Given the description of an element on the screen output the (x, y) to click on. 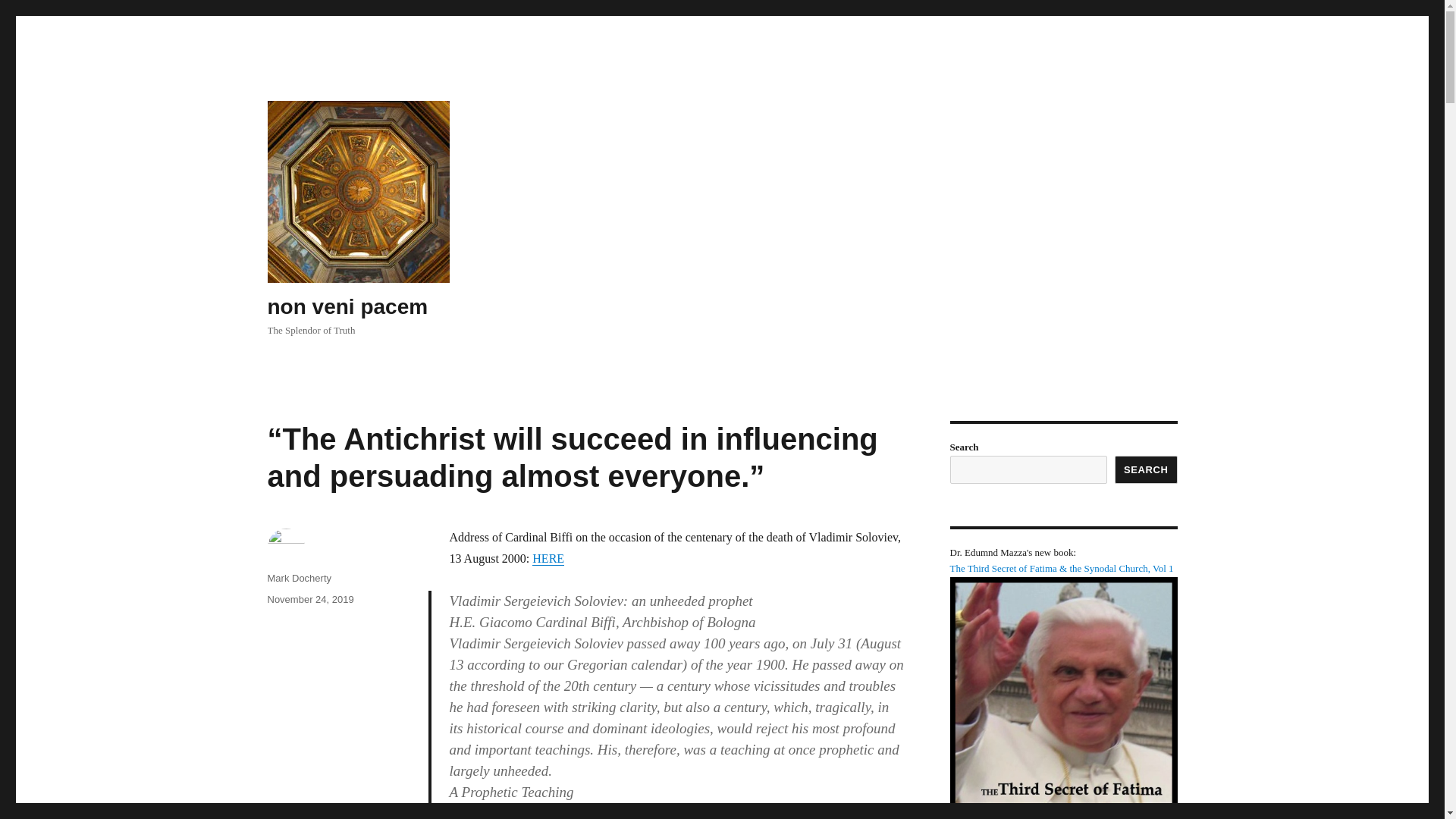
non veni pacem (347, 306)
Mark Docherty (298, 577)
HERE (548, 558)
November 24, 2019 (309, 599)
